Given the description of an element on the screen output the (x, y) to click on. 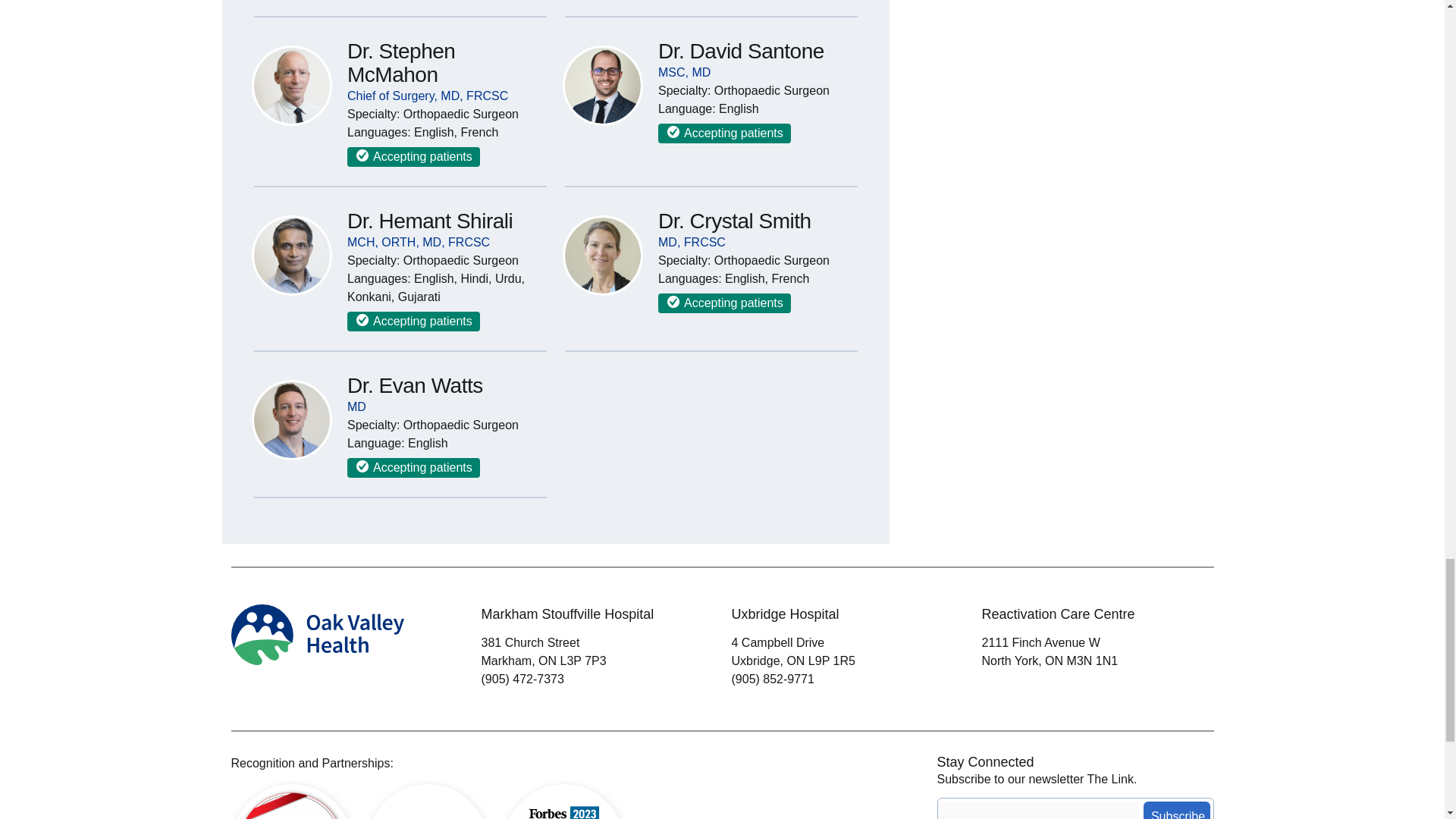
Subscribe (1175, 810)
